Given the description of an element on the screen output the (x, y) to click on. 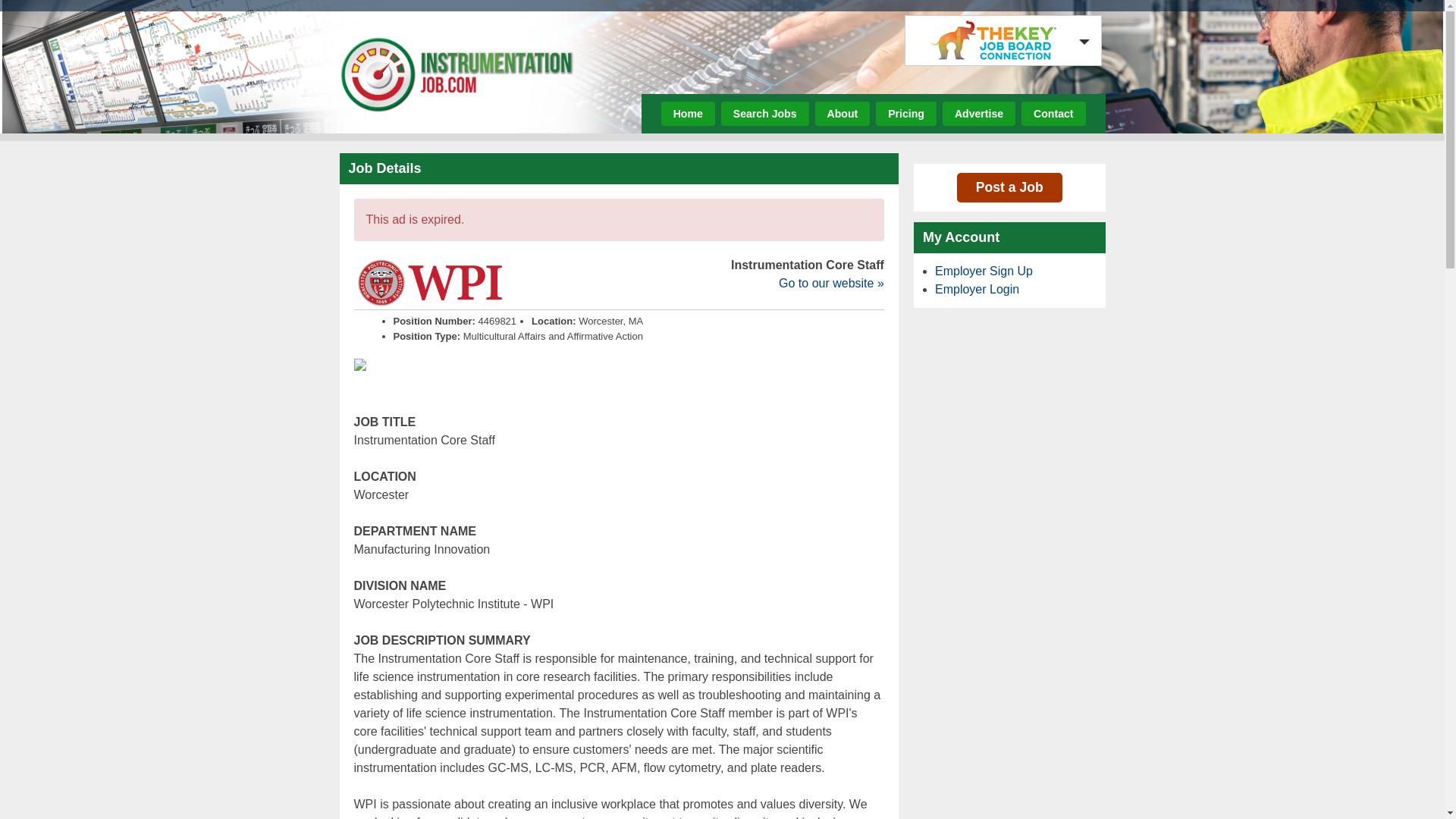
Toggle JobElephant Network menu (998, 40)
